Given the description of an element on the screen output the (x, y) to click on. 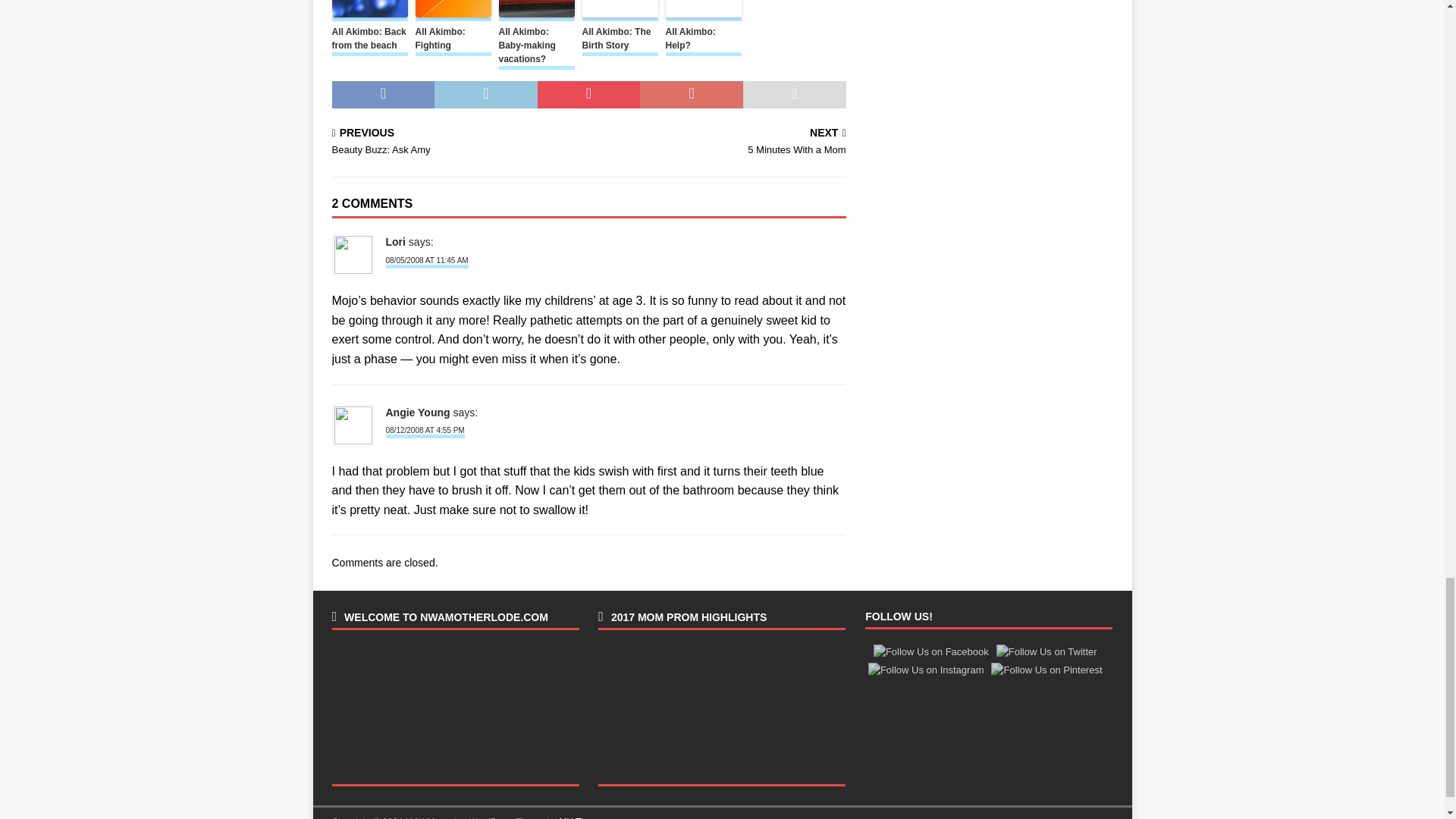
All Akimbo: Baby-making vacations? (537, 47)
All Akimbo: Fighting (453, 40)
All Akimbo: Help? (703, 40)
All Akimbo: Back from the beach (369, 40)
All Akimbo: The Birth Story (620, 40)
